Given the description of an element on the screen output the (x, y) to click on. 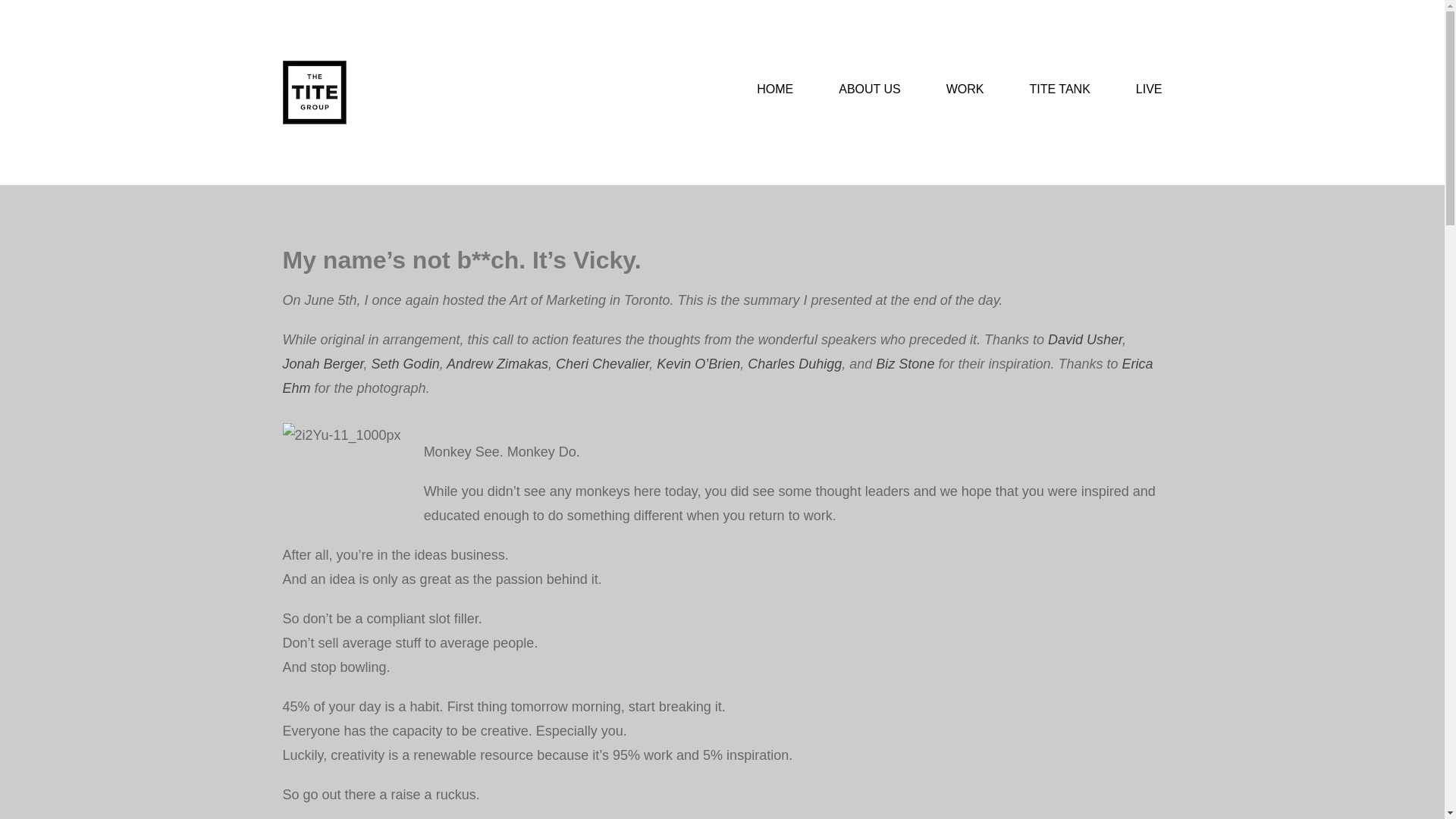
WORK (965, 89)
TITE TANK (1059, 89)
Andrew Zimakas (497, 363)
Seth Godin (405, 363)
Charles Duhigg (794, 363)
Biz Stone (905, 363)
Cheri Chevalier (602, 363)
Erica Ehm (717, 375)
David Usher (1085, 339)
ABOUT US (869, 89)
